Given the description of an element on the screen output the (x, y) to click on. 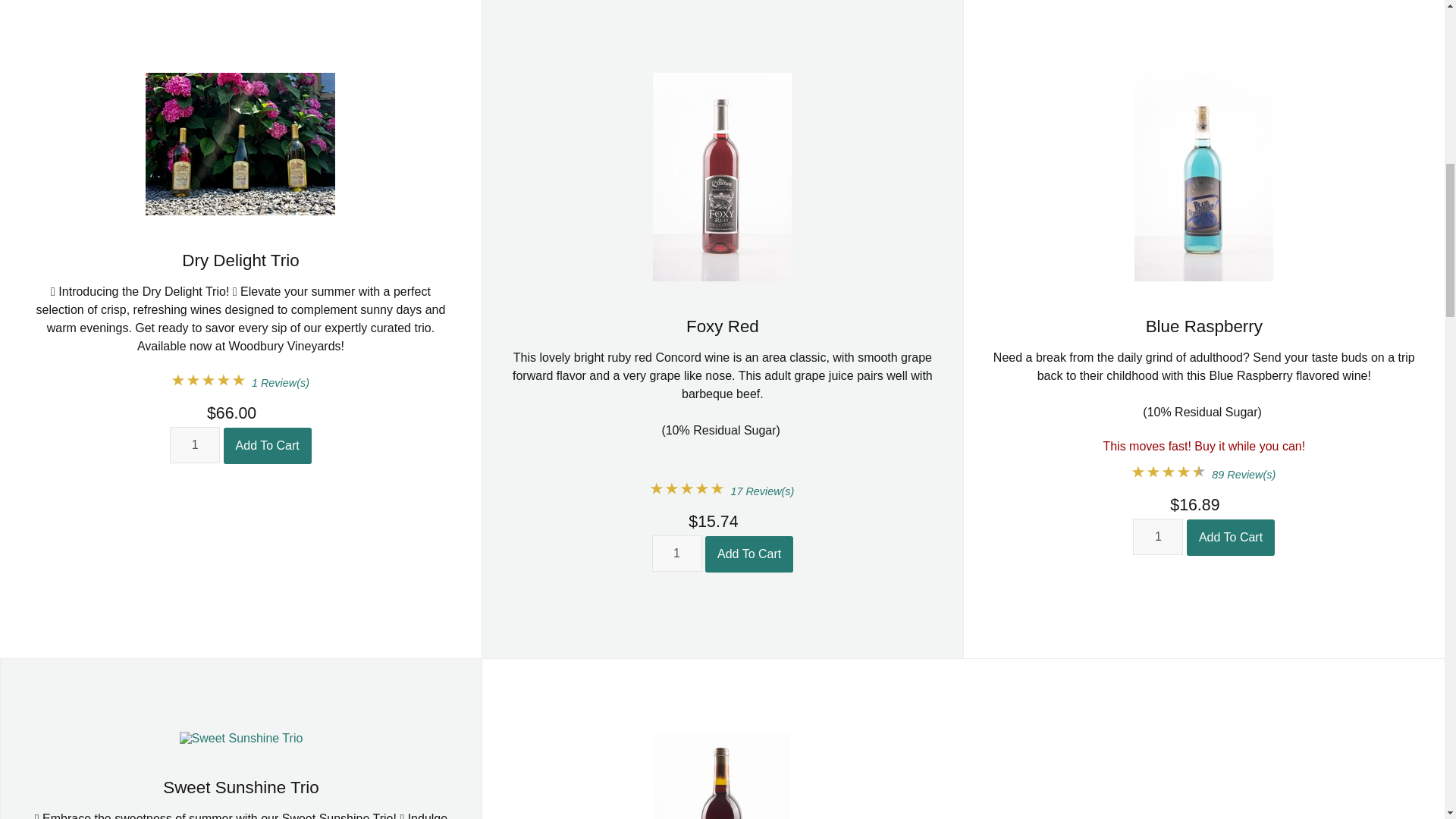
Add To Cart (267, 445)
1 (1157, 536)
Add To Cart (748, 554)
Foxy Red (721, 325)
Add To Cart (1230, 537)
1 (194, 444)
Blue Raspberry (1203, 325)
Dry Delight Trio (240, 260)
1 (676, 553)
